Given the description of an element on the screen output the (x, y) to click on. 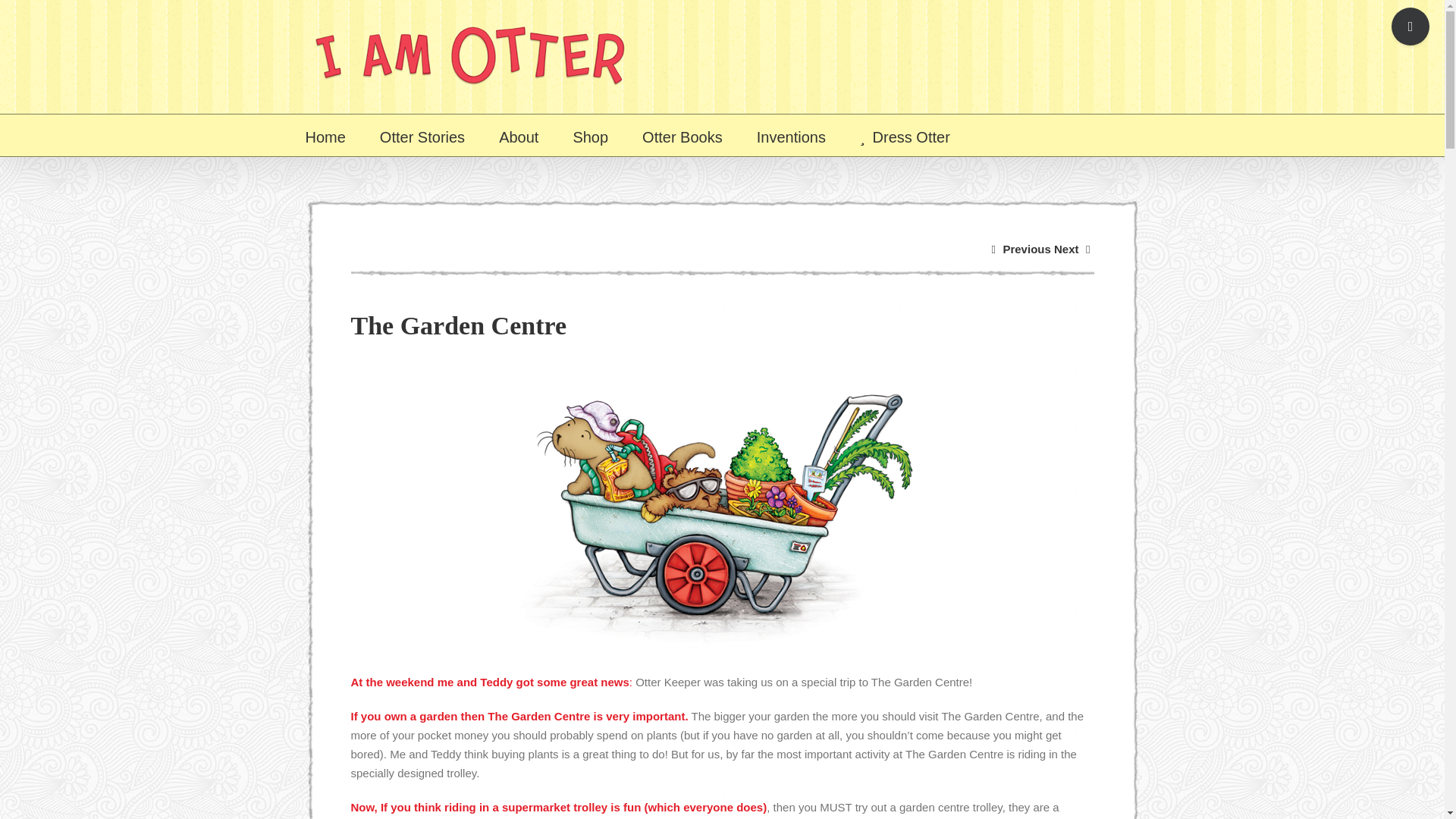
Dress Otter (905, 135)
About (518, 135)
Inventions (791, 135)
Otter Stories (422, 135)
Previous (1026, 249)
Home (324, 135)
Otter Books (682, 135)
Next (1066, 249)
